Given the description of an element on the screen output the (x, y) to click on. 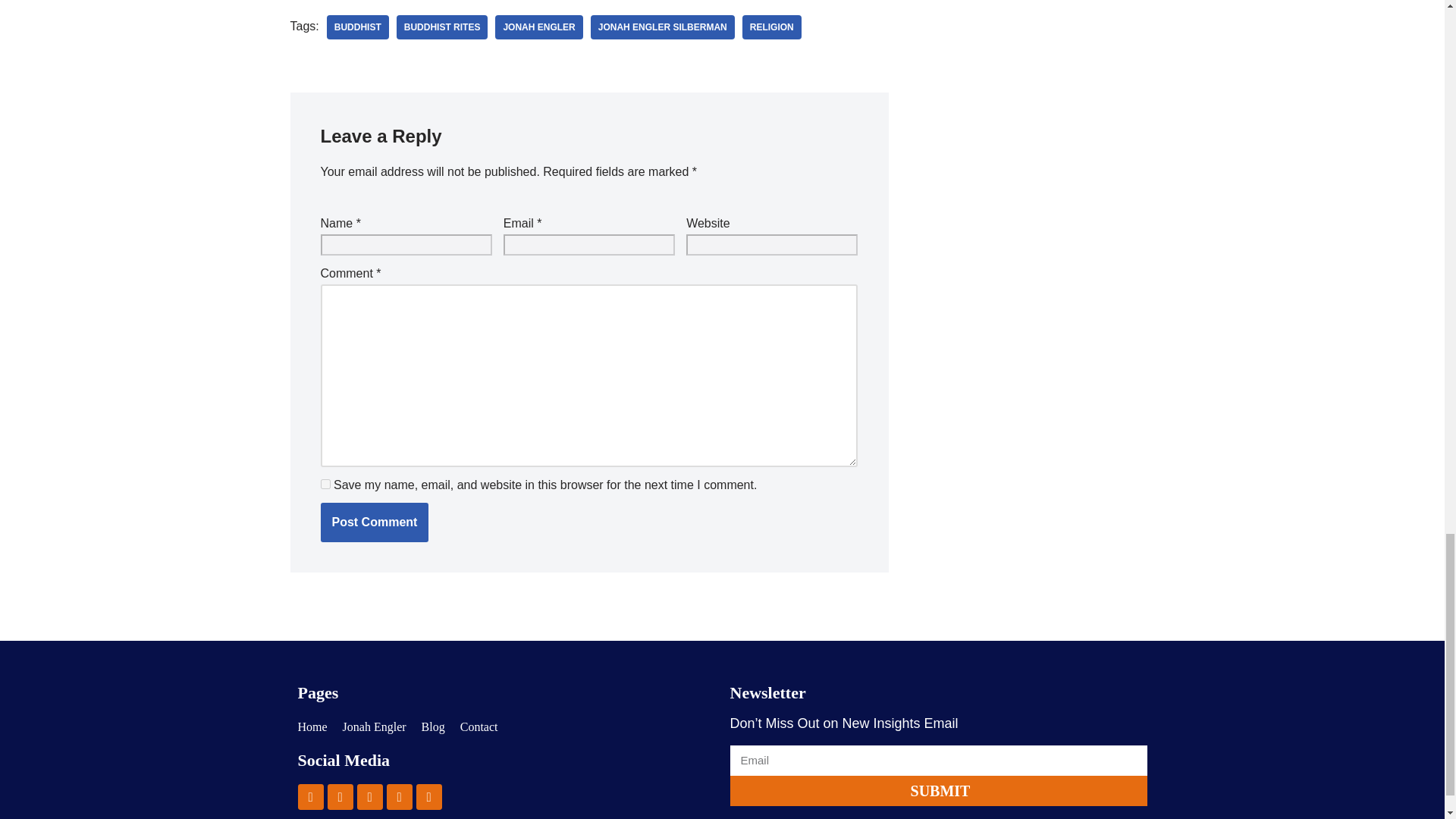
JONAH ENGLER SILBERMAN (663, 27)
RELIGION (772, 27)
Buddhist Rites (441, 27)
JONAH ENGLER (538, 27)
Blog (433, 726)
Contact (478, 726)
Jonah Engler (538, 27)
Buddhist (357, 27)
Home (311, 726)
Jonah Engler Silberman (663, 27)
Post Comment (374, 522)
SUBMIT (938, 790)
yes (325, 483)
Religion (772, 27)
Jonah Engler (374, 726)
